Given the description of an element on the screen output the (x, y) to click on. 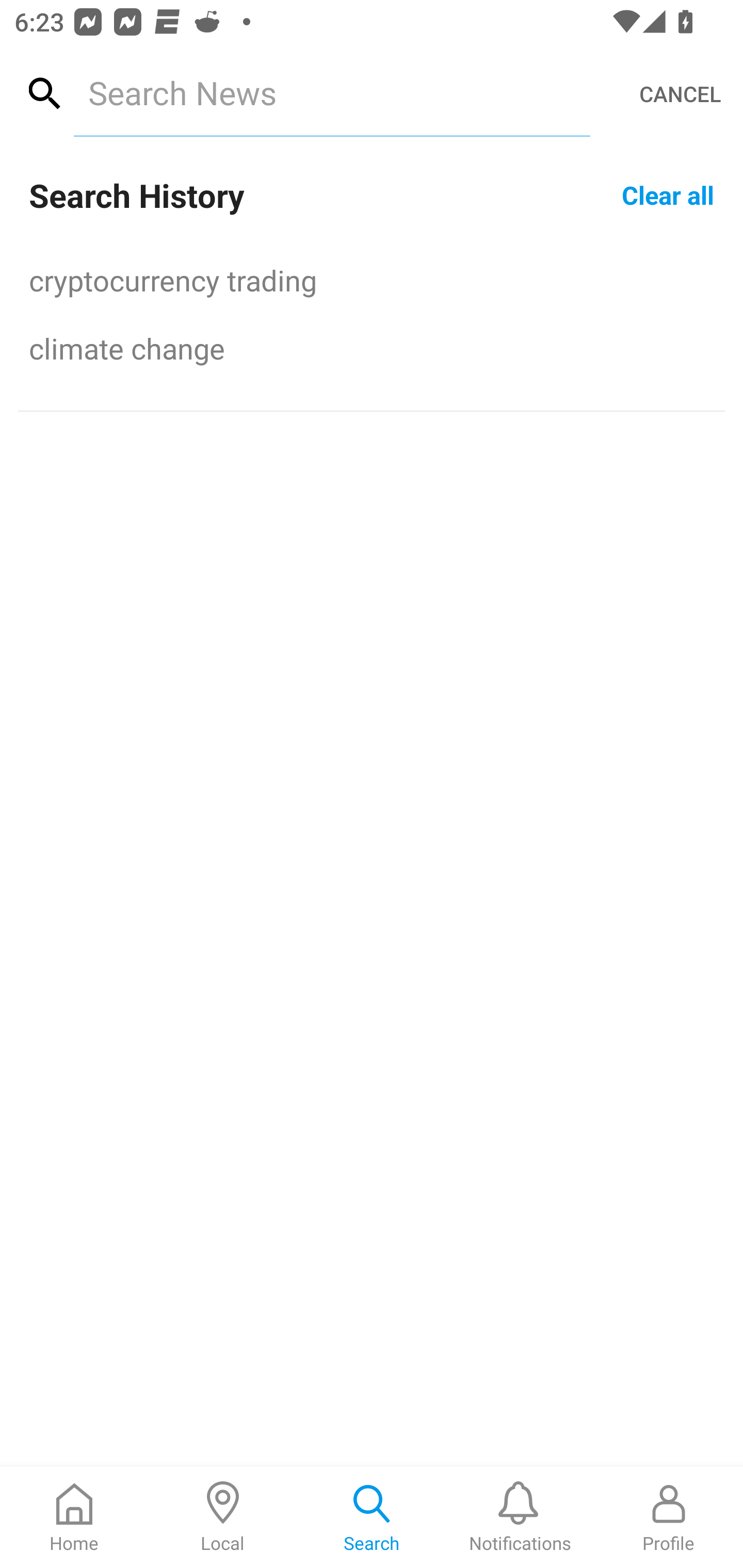
CANCEL (680, 93)
Search News (331, 92)
Clear all (667, 194)
cryptocurrency trading (371, 279)
climate change (371, 347)
Home (74, 1517)
Local (222, 1517)
Notifications (519, 1517)
Profile (668, 1517)
